Given the description of an element on the screen output the (x, y) to click on. 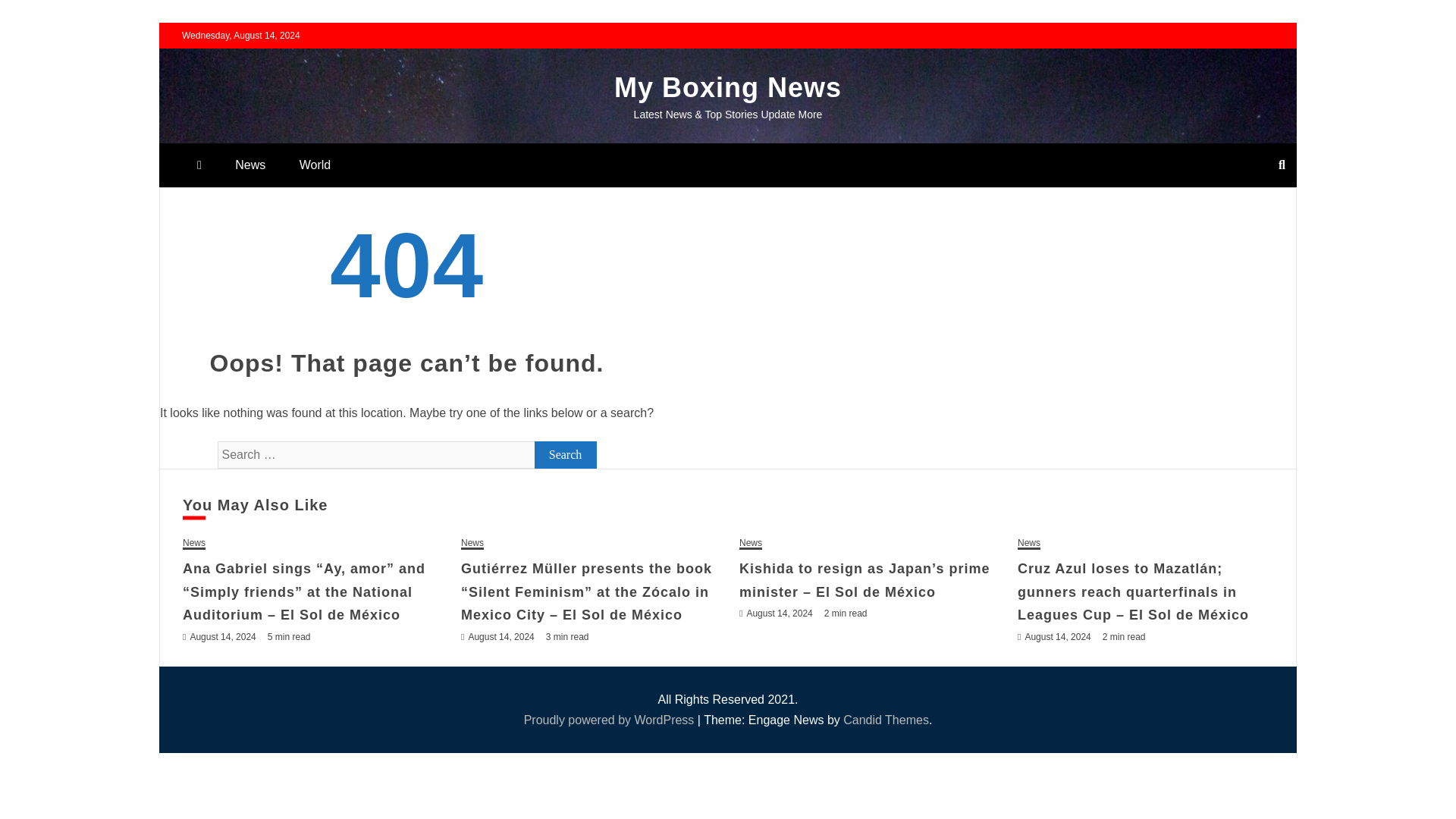
World (314, 164)
August 14, 2024 (500, 636)
News (1029, 543)
Search (565, 454)
Search (565, 454)
August 14, 2024 (1057, 636)
News (194, 543)
Search (565, 454)
My Boxing News (727, 87)
August 14, 2024 (222, 636)
